Given the description of an element on the screen output the (x, y) to click on. 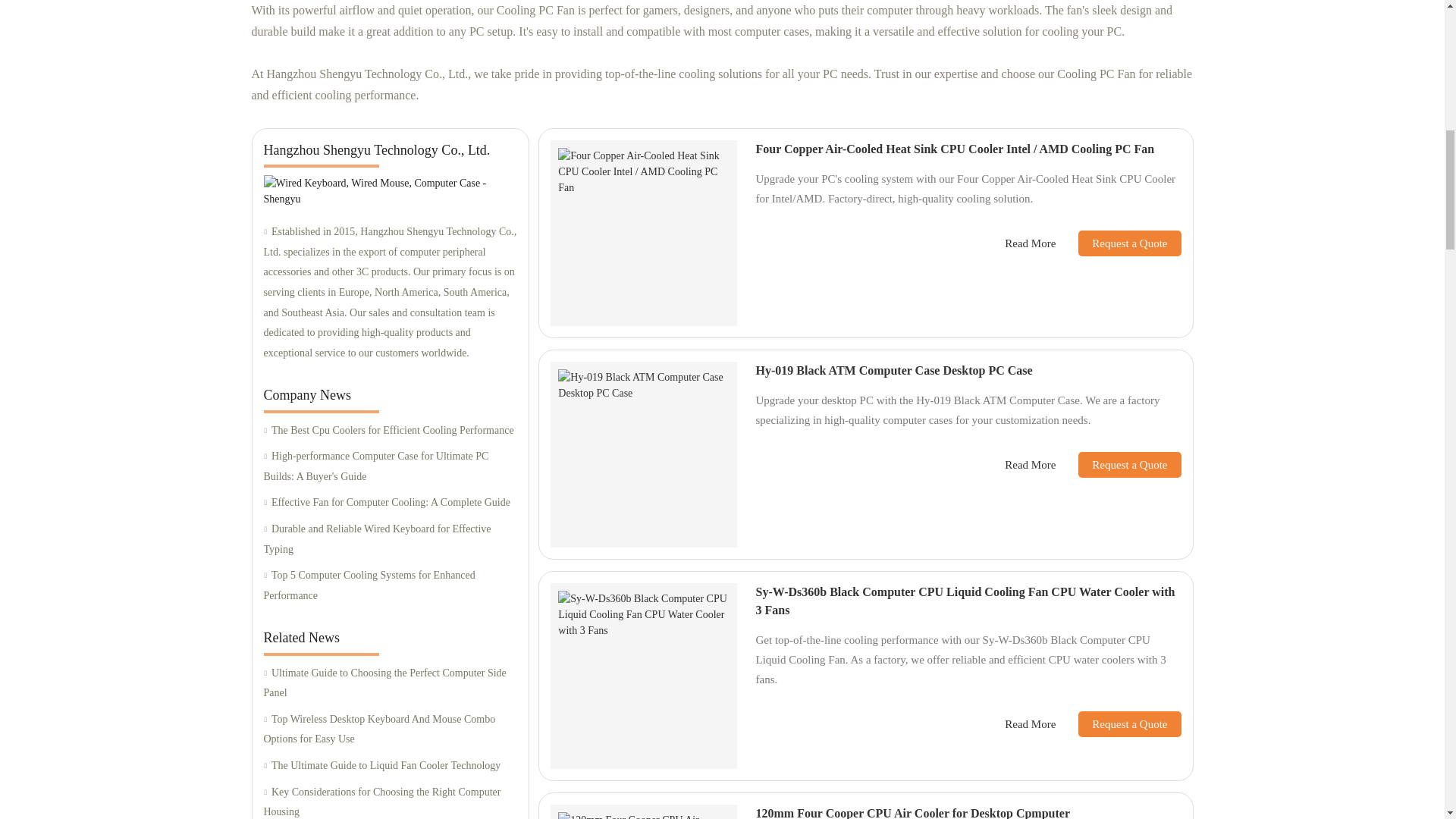
Request a Quote (1117, 724)
Read More (1029, 724)
Request a Quote (1117, 243)
The Best Cpu Coolers for Efficient Cooling Performance (389, 430)
Hy-019 Black ATM Computer Case Desktop PC Case (893, 369)
Effective Fan for Computer Cooling: A Complete Guide (389, 503)
Request a Quote (1117, 464)
Read More (1029, 465)
Read More (1029, 243)
Durable and Reliable Wired Keyboard for Effective Typing (389, 539)
Ultimate Guide to Choosing the Perfect Computer Side Panel (389, 683)
